Given the description of an element on the screen output the (x, y) to click on. 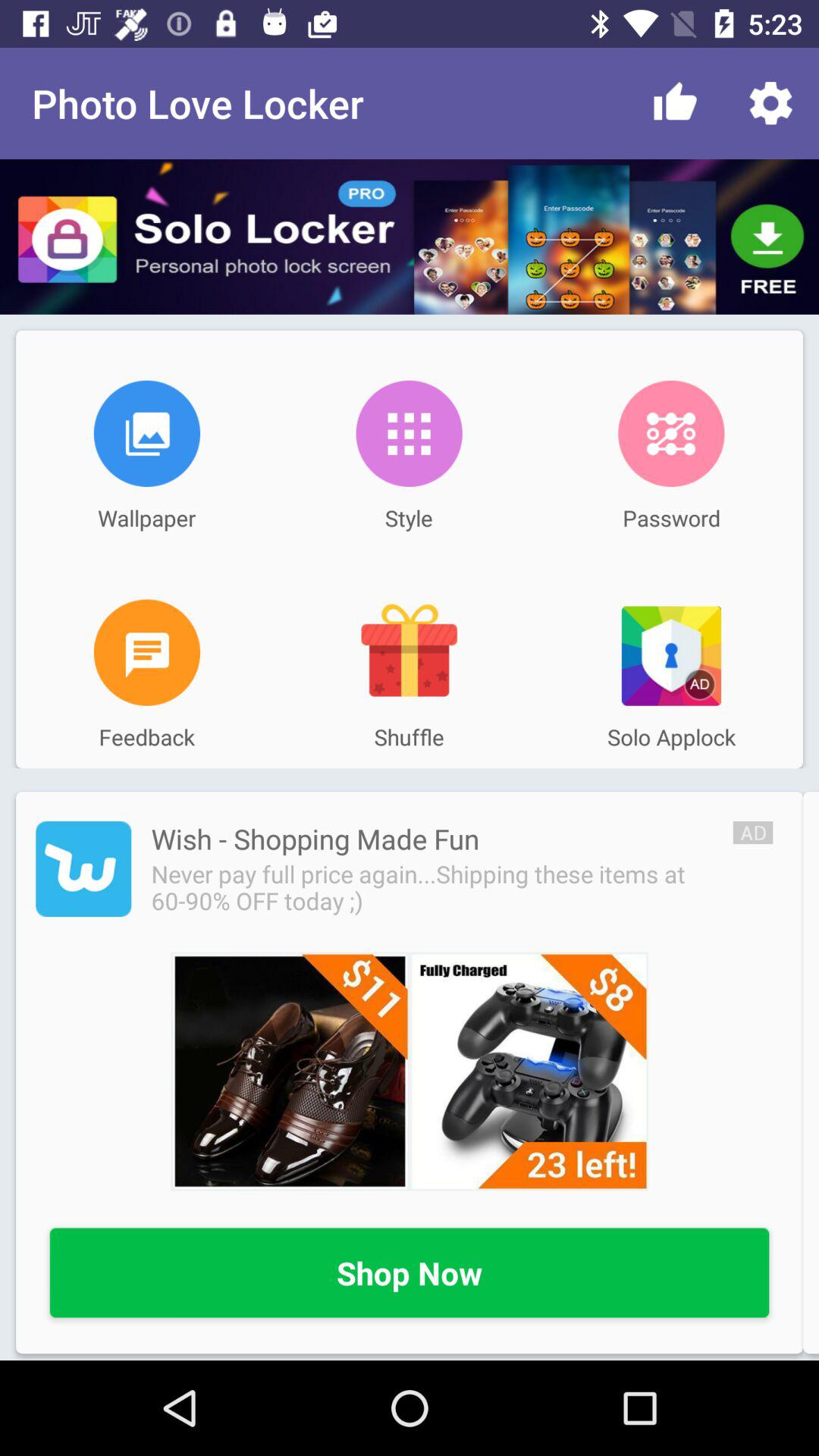
change style (409, 433)
